Given the description of an element on the screen output the (x, y) to click on. 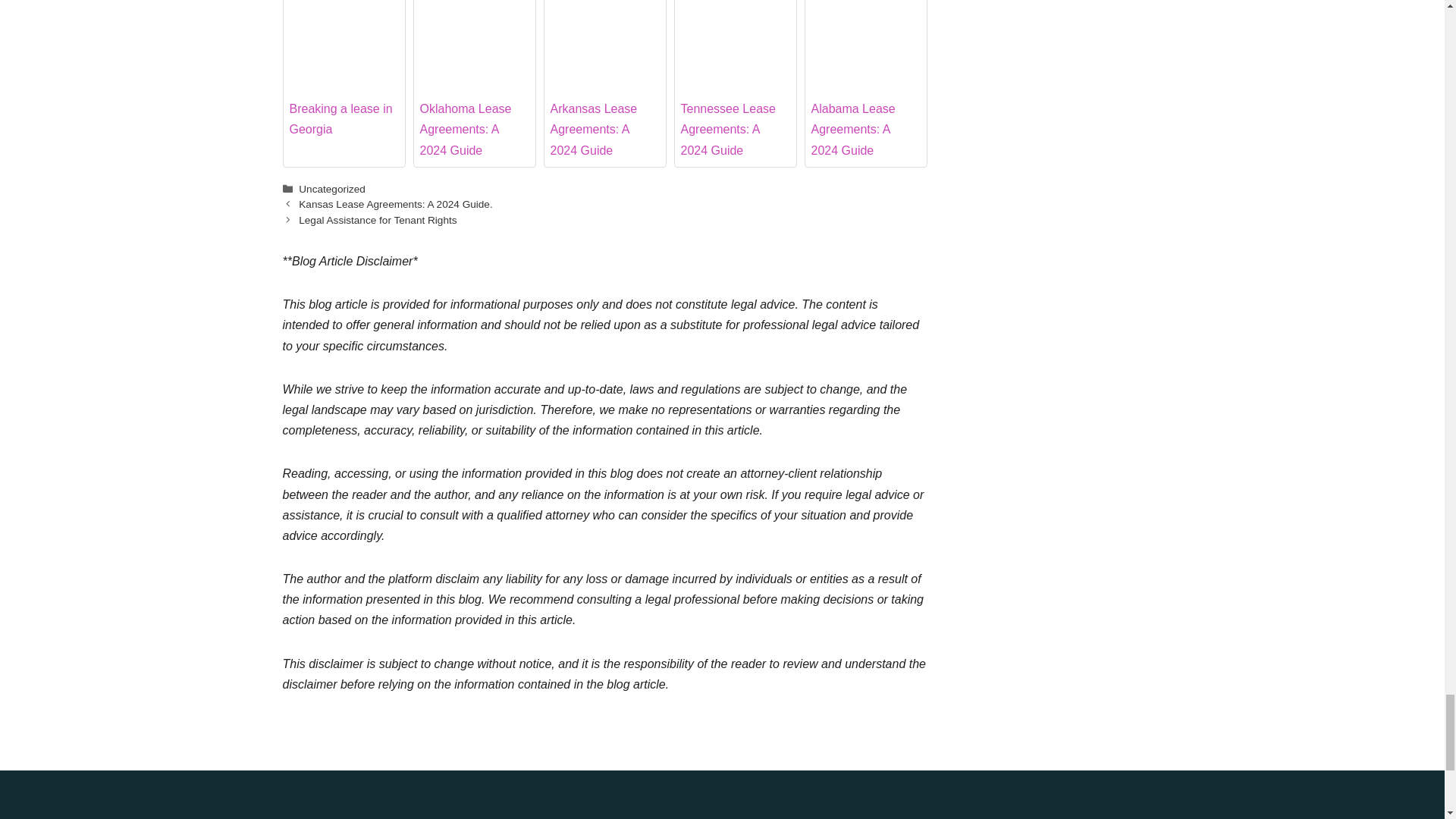
Breaking a lease in Georgia (343, 47)
Arkansas Lease Agreements: A 2024 Guide (604, 47)
Oklahoma Lease Agreements: A 2024 Guide (474, 47)
Alabama Lease Agreements: A 2024 Guide (865, 47)
Tennessee Lease Agreements: A 2024 Guide (735, 47)
